Given the description of an element on the screen output the (x, y) to click on. 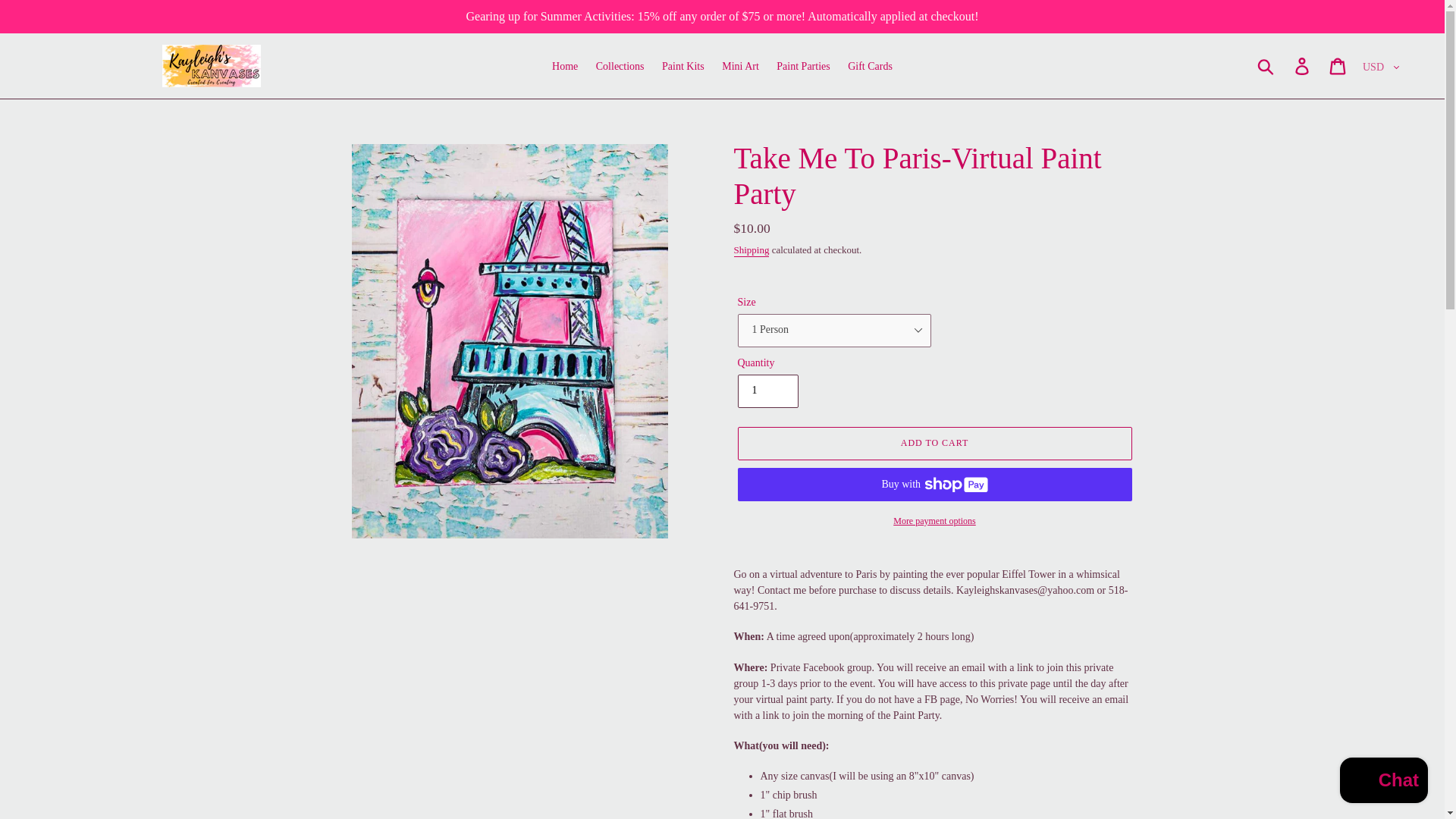
1 (766, 390)
Paint Parties (802, 66)
Mini Art (740, 66)
Home (564, 66)
Shipping (751, 250)
Gift Cards (869, 66)
Shopify online store chat (1383, 781)
Submit (1266, 65)
Collections (620, 66)
More payment options (933, 520)
ADD TO CART (933, 443)
Log in (1302, 65)
Cart (1338, 65)
Paint Kits (682, 66)
